Given the description of an element on the screen output the (x, y) to click on. 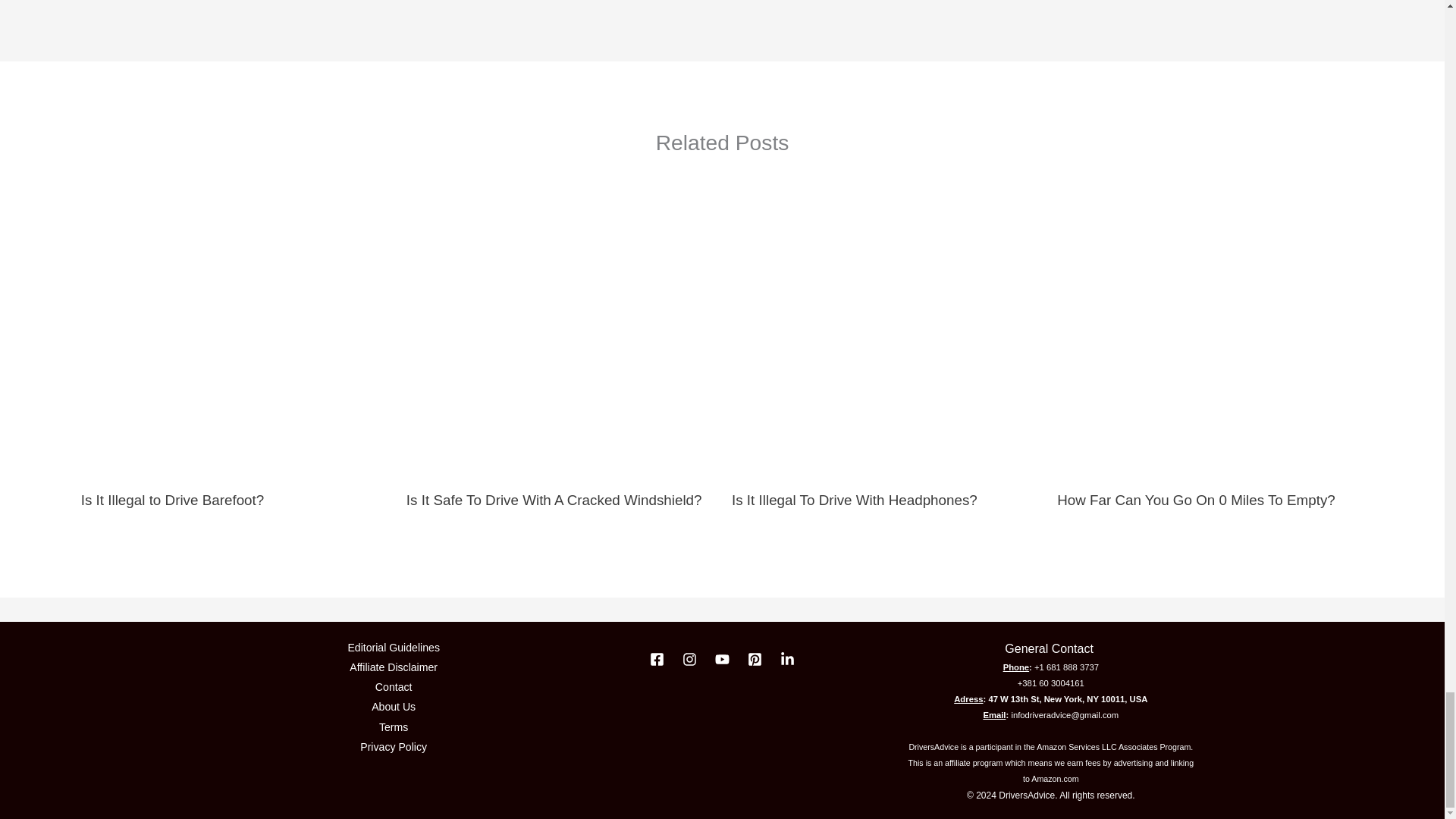
Terms (392, 727)
About Us (392, 706)
Editorial Guidelines (393, 647)
Is It Illegal to Drive Barefoot? (172, 499)
Privacy Policy (392, 746)
Is It Illegal To Drive With Headphones? (854, 499)
How Far Can You Go On 0 Miles To Empty? (1196, 499)
Contact (393, 686)
Is It Safe To Drive With A Cracked Windshield? (553, 499)
Affiliate Disclaimer (393, 667)
